Given the description of an element on the screen output the (x, y) to click on. 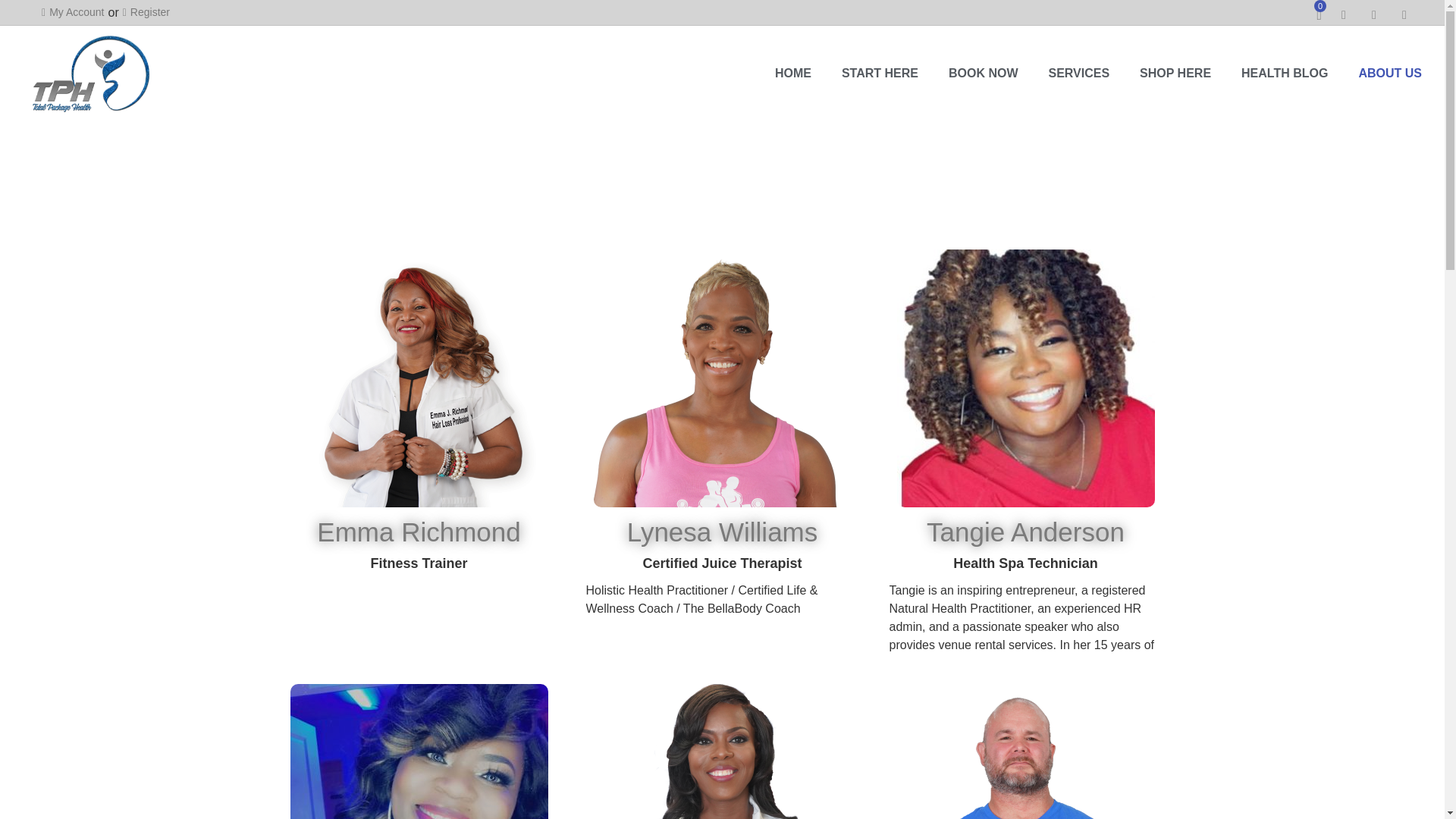
START HERE (880, 73)
Register (146, 12)
My Account (73, 12)
BOOK NOW (983, 73)
HOME (793, 73)
0 (1325, 15)
SERVICES (1078, 73)
View your shopping cart (1325, 15)
